Given the description of an element on the screen output the (x, y) to click on. 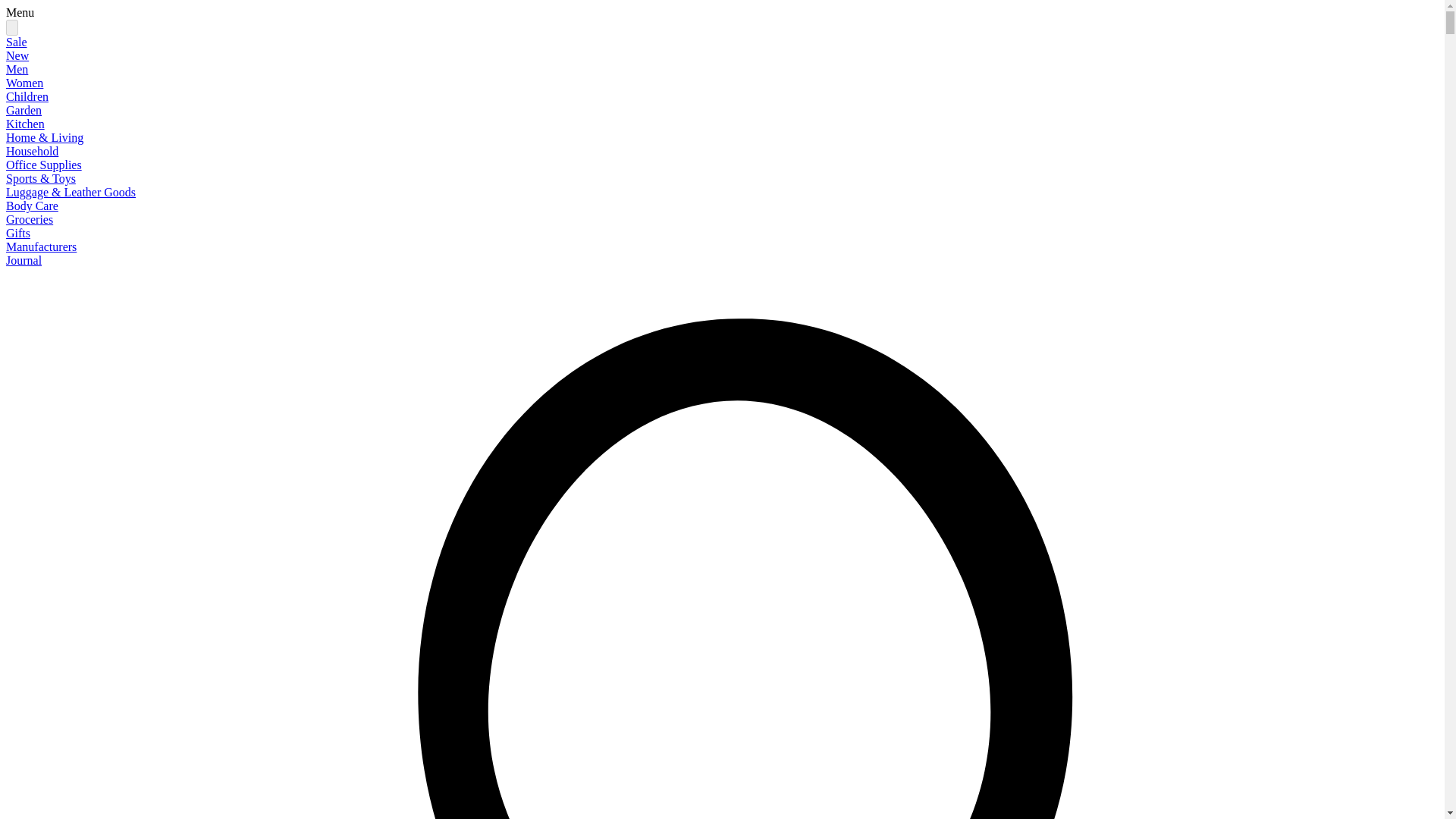
Journal (23, 259)
Groceries (28, 219)
Body Care (31, 205)
Office Supplies (43, 164)
Sale (16, 42)
Manufacturers (41, 246)
New (17, 55)
Women (24, 82)
Children (26, 96)
Garden (23, 110)
